Given the description of an element on the screen output the (x, y) to click on. 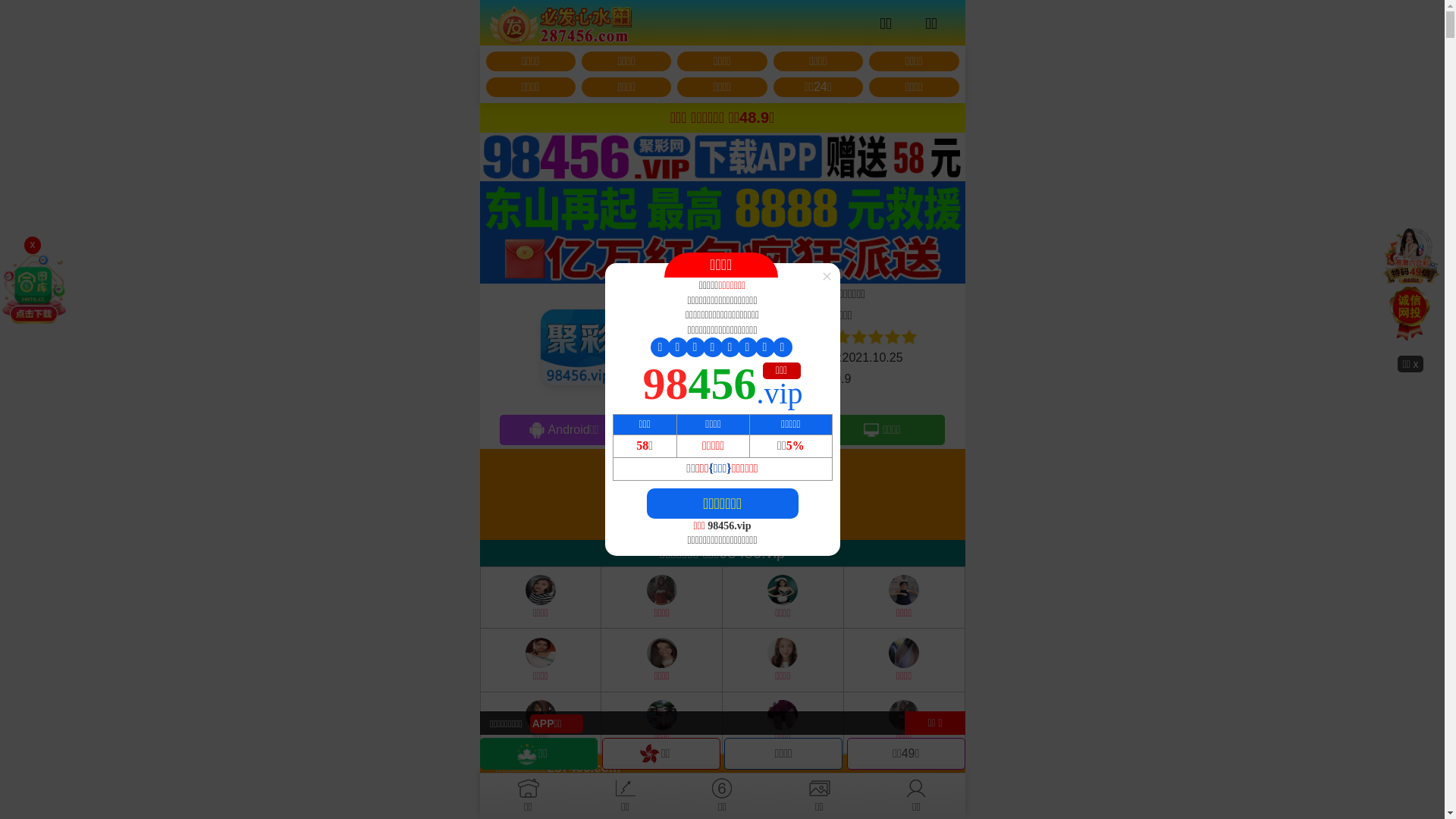
x Element type: text (32, 245)
